Given the description of an element on the screen output the (x, y) to click on. 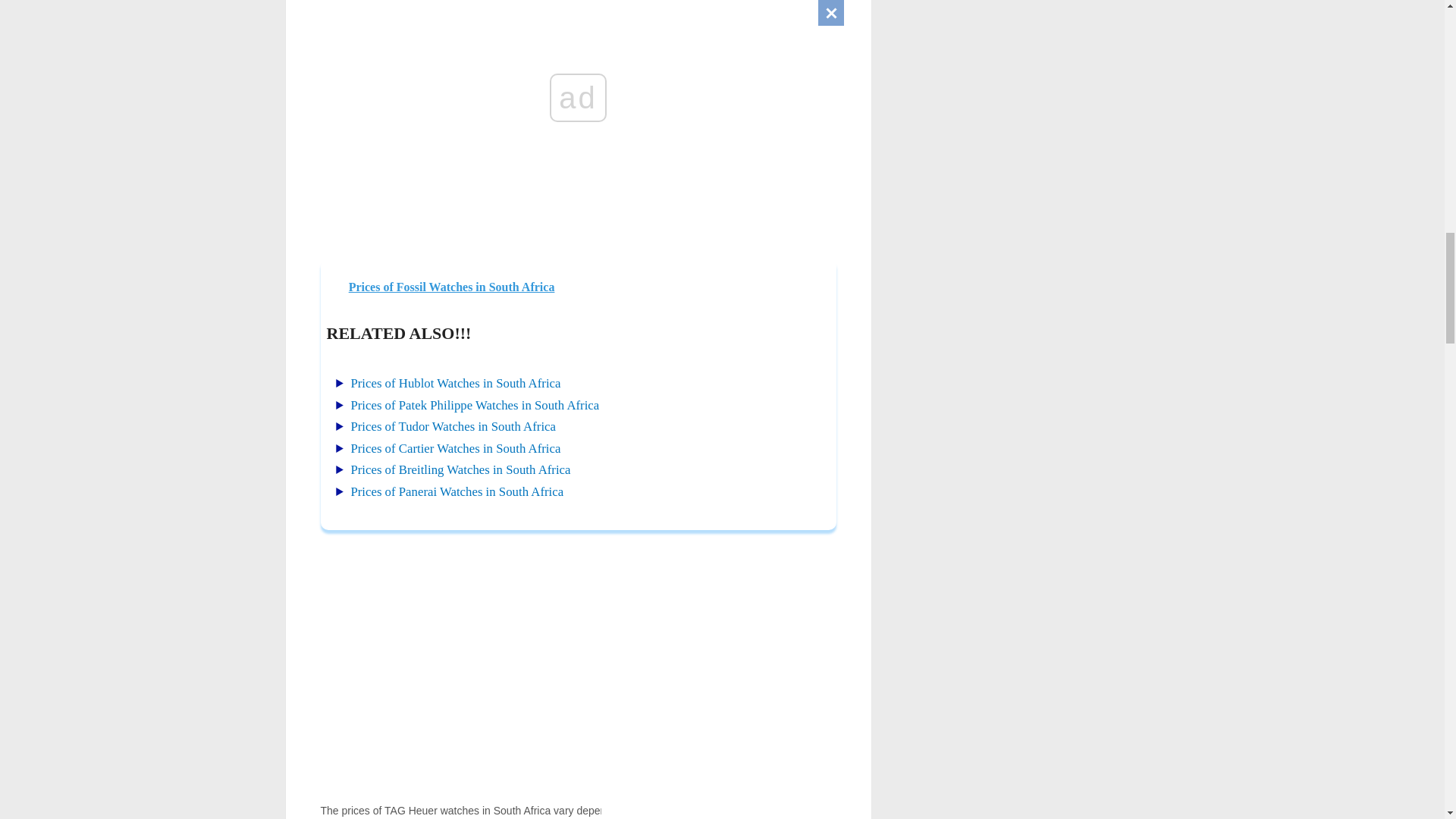
  Prices of Fossil Watches in South Africa (579, 286)
Prices of Hublot Watches in South Africa (455, 382)
